Given the description of an element on the screen output the (x, y) to click on. 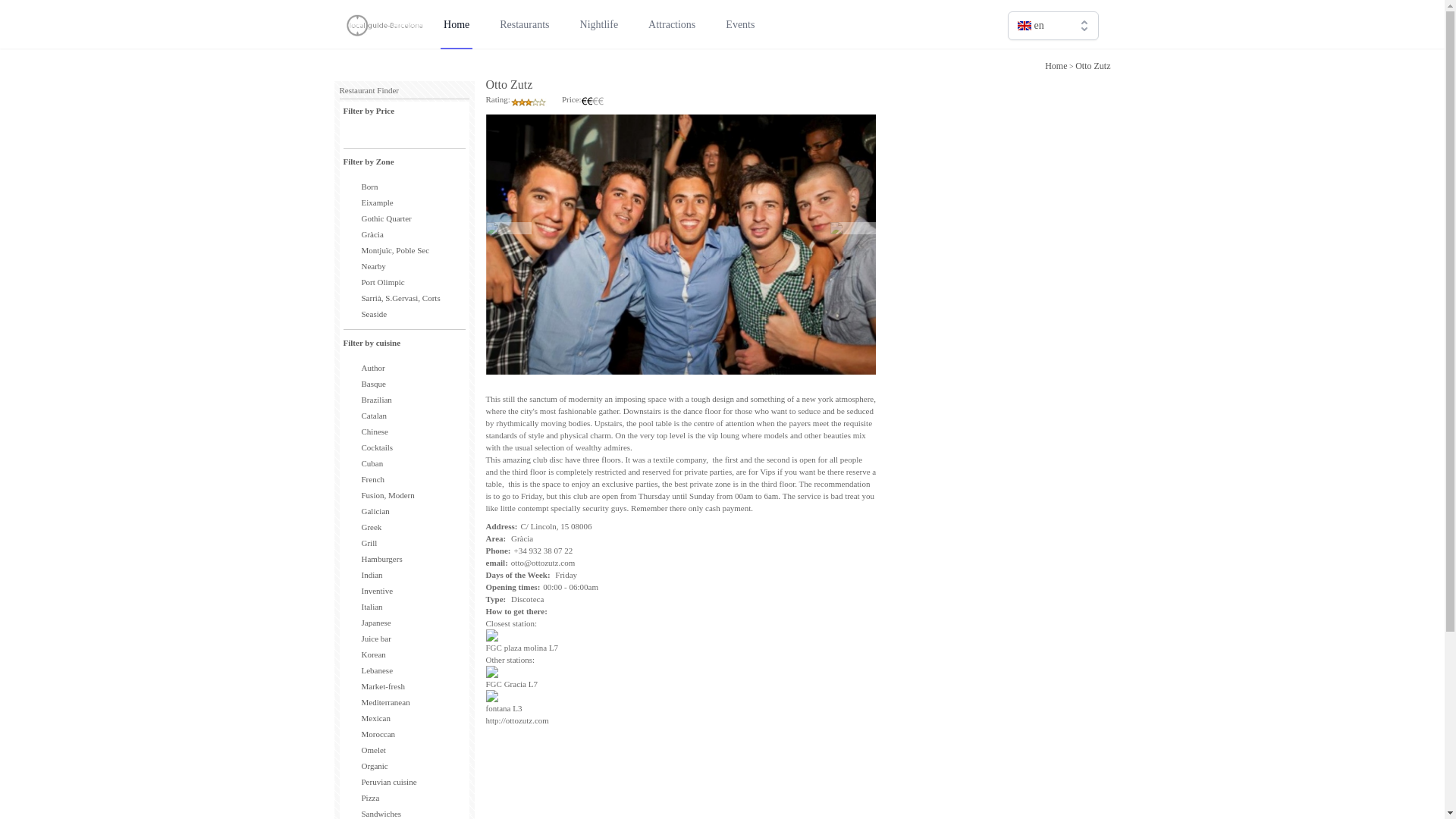
Moderate (592, 101)
Good (529, 102)
Nightlife (598, 24)
Home (1056, 65)
Eixample (377, 202)
Attractions (671, 24)
Gothic Quarter (385, 217)
Restaurants (523, 24)
en (1052, 25)
Born (369, 185)
